Given the description of an element on the screen output the (x, y) to click on. 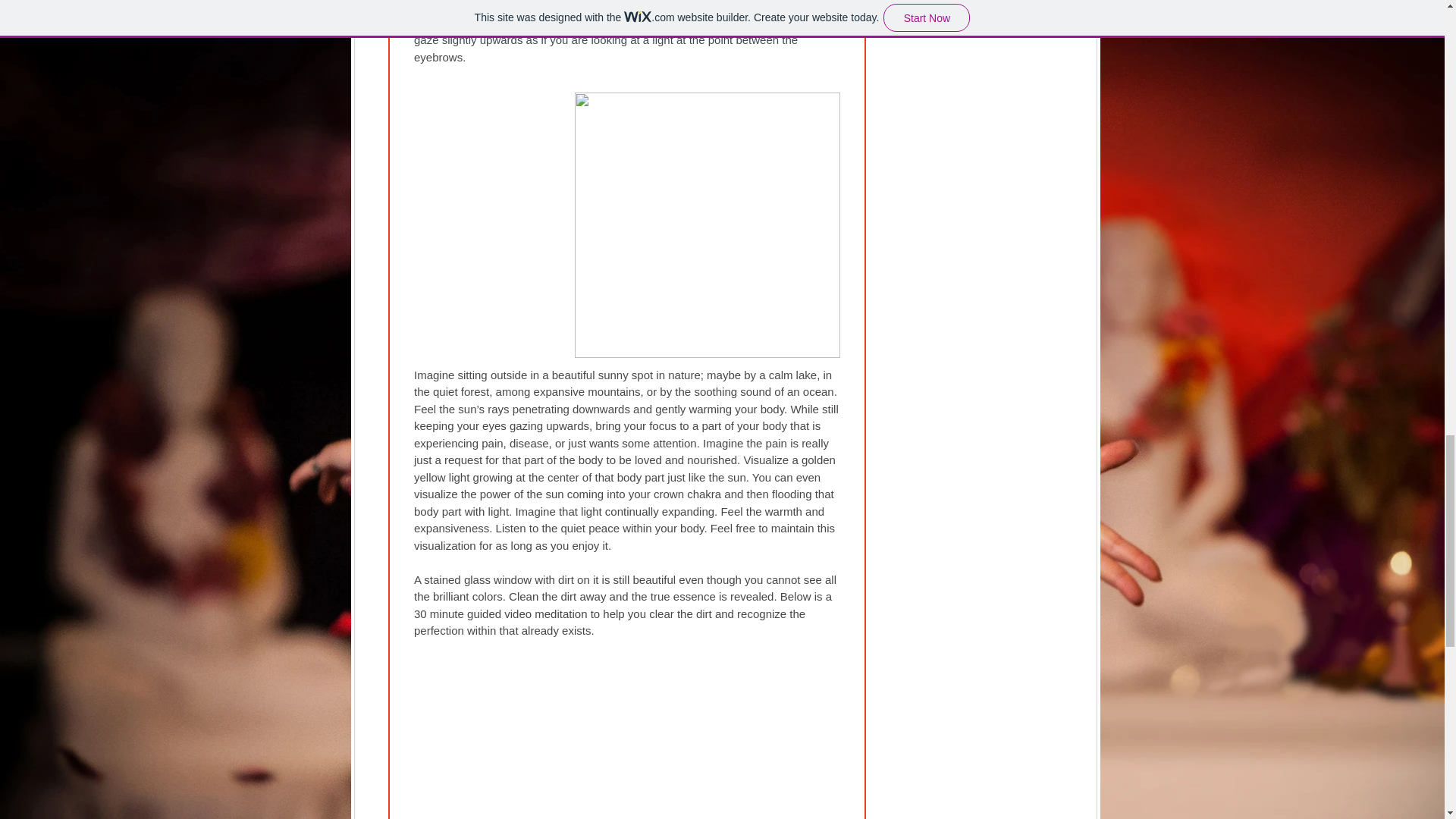
ricos-video (626, 698)
